Given the description of an element on the screen output the (x, y) to click on. 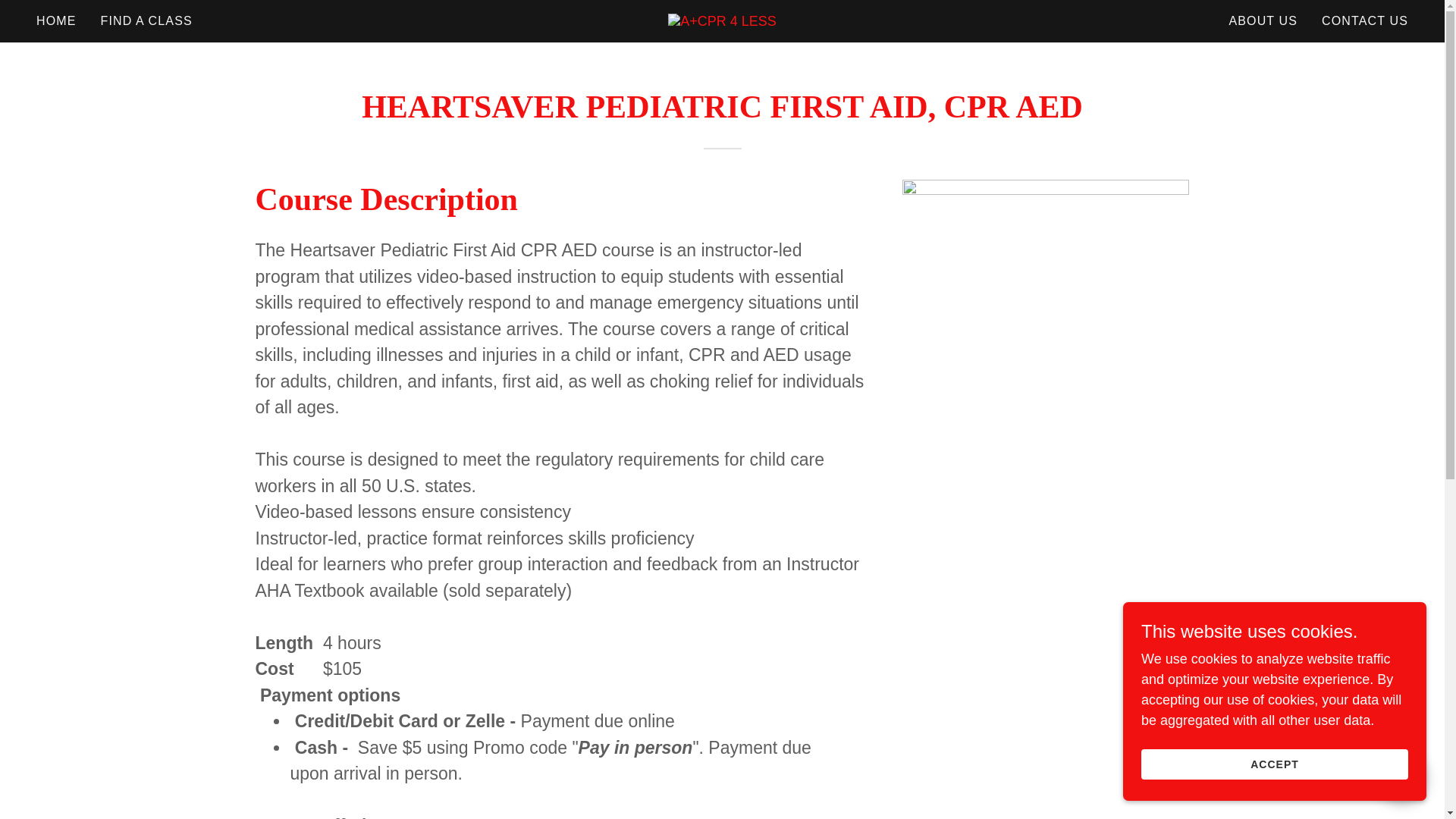
HOME (56, 21)
CONTACT US (1364, 21)
FIND A CLASS (146, 21)
ACCEPT (1274, 764)
ABOUT US (1262, 21)
